Given the description of an element on the screen output the (x, y) to click on. 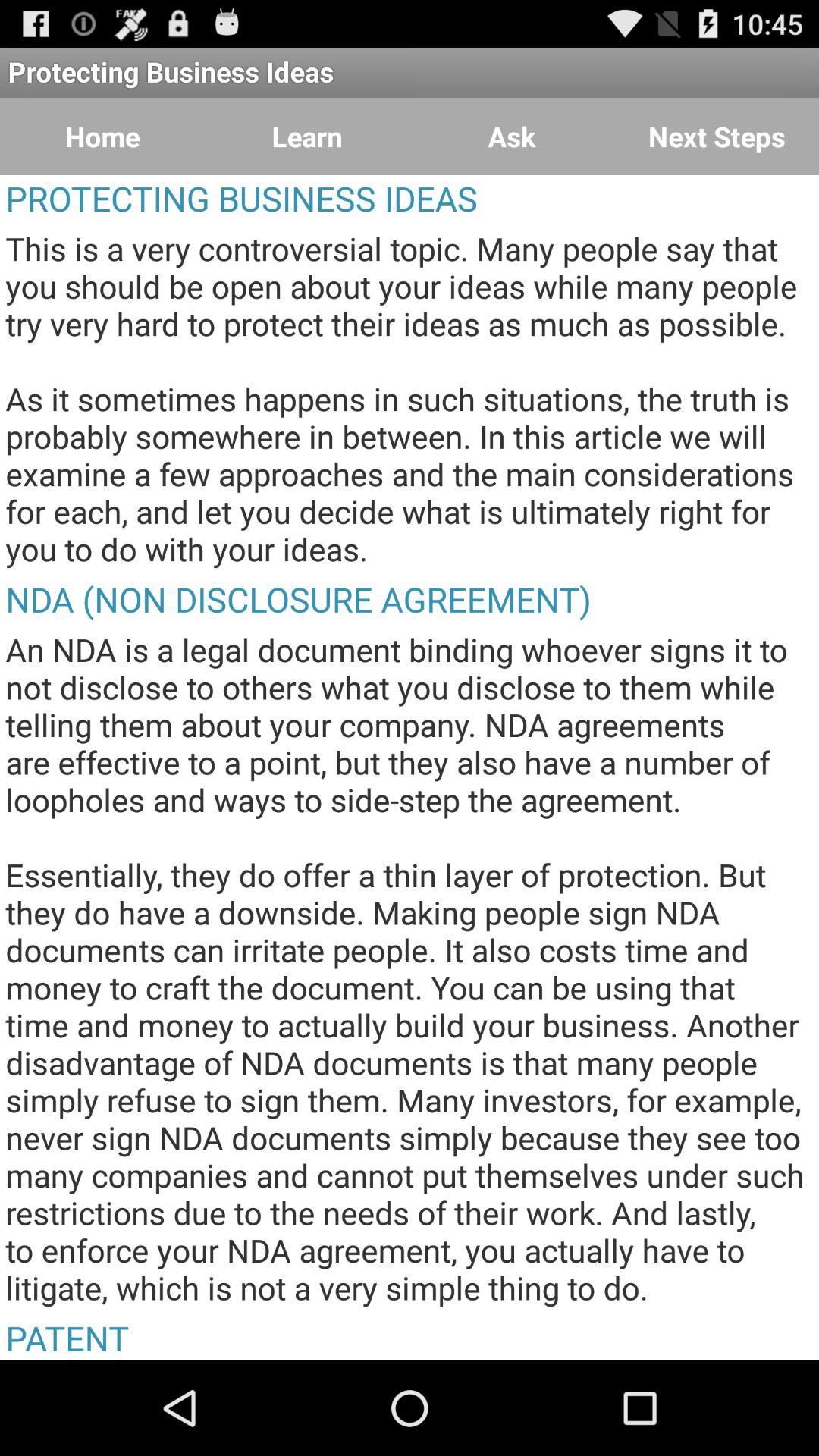
turn on icon above the protecting business ideas app (716, 136)
